Given the description of an element on the screen output the (x, y) to click on. 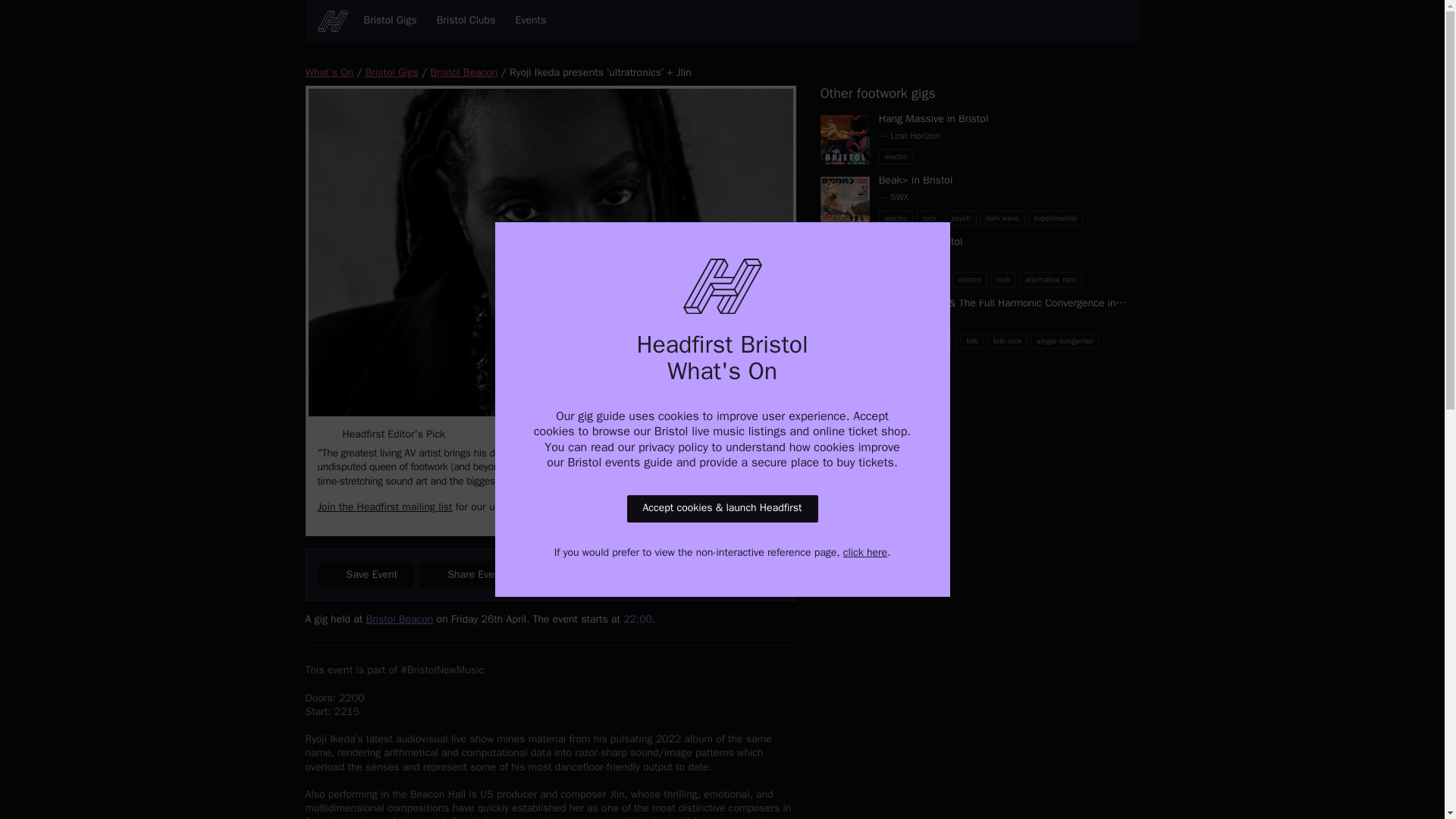
What's On (328, 72)
Bristol Clubs (1009, 218)
Bristol Gigs (1009, 279)
Bristol Gigs (465, 20)
privacy policy (389, 20)
Hang Massive in Bristol (392, 72)
electro (673, 447)
